Given the description of an element on the screen output the (x, y) to click on. 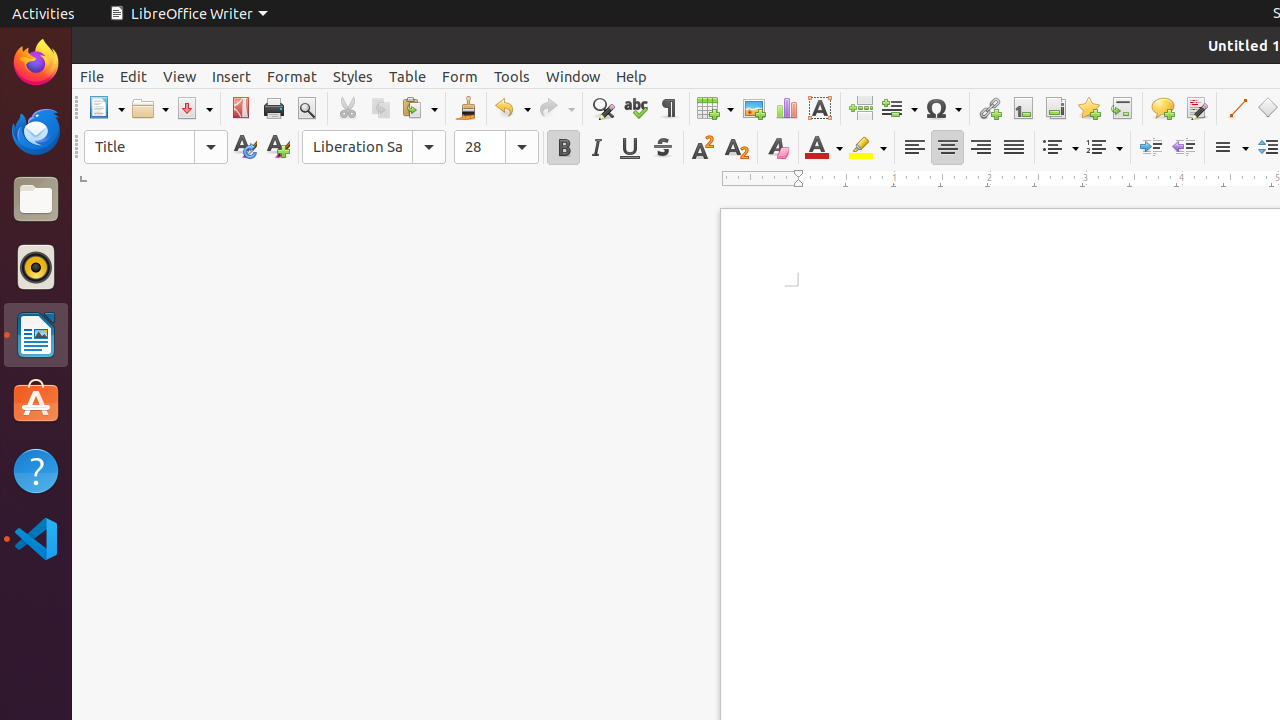
Footnote Element type: push-button (1022, 108)
Update Element type: push-button (244, 147)
Table Element type: menu (407, 76)
Image Element type: push-button (753, 108)
Files Element type: push-button (36, 199)
